Given the description of an element on the screen output the (x, y) to click on. 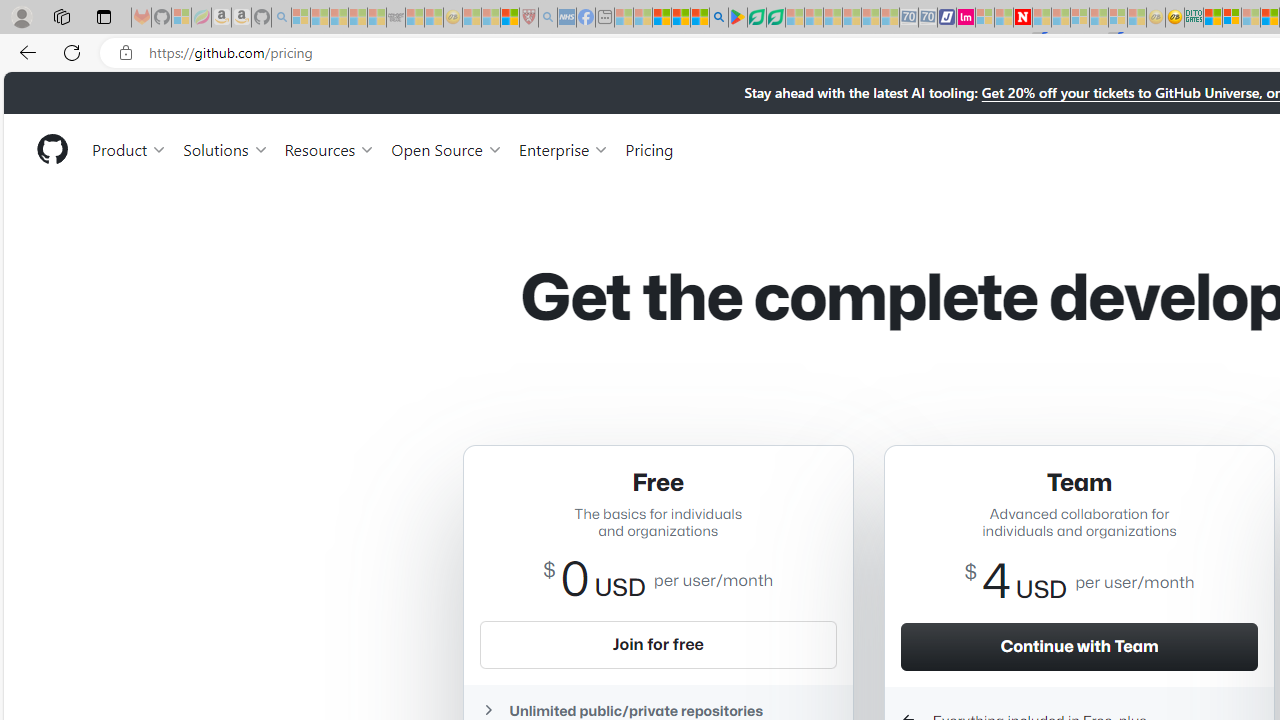
Enterprise (563, 148)
Product (130, 148)
Microsoft Word - consumer-privacy address update 2.2021 (775, 17)
Pricing (649, 148)
